Given the description of an element on the screen output the (x, y) to click on. 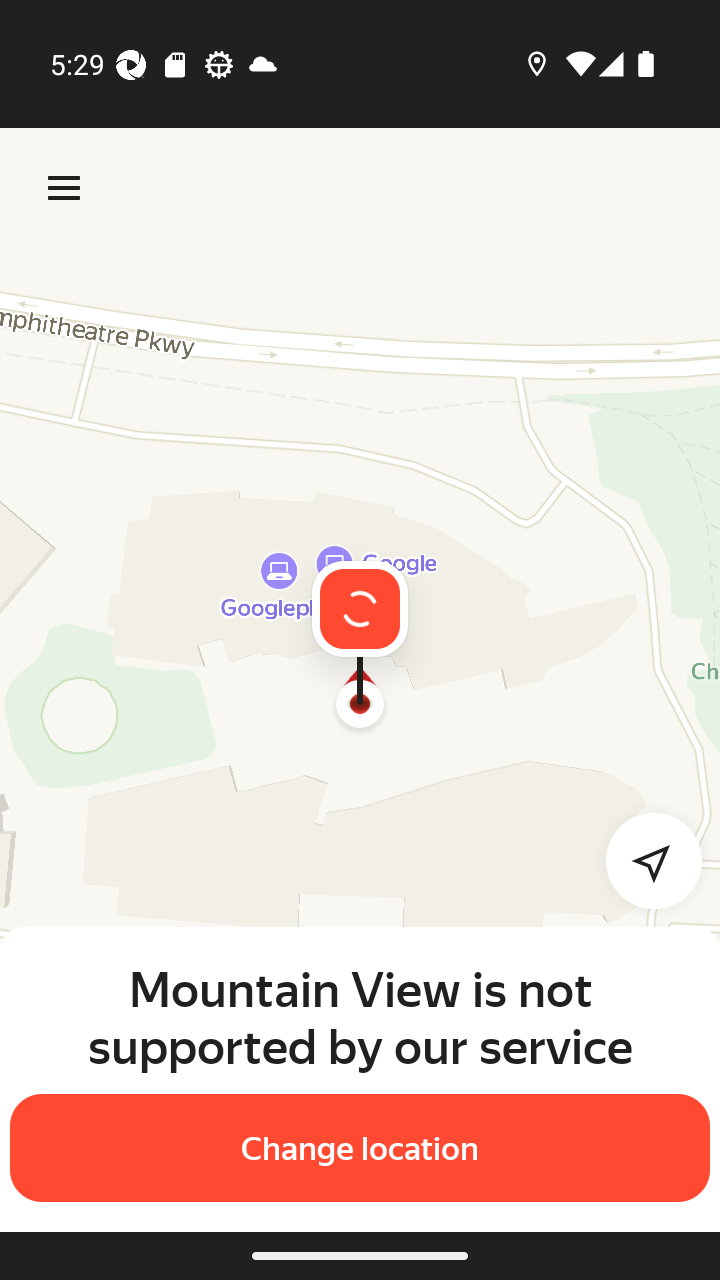
Menu Menu Menu (64, 188)
Detect my location (641, 860)
Change location (359, 1147)
